Given the description of an element on the screen output the (x, y) to click on. 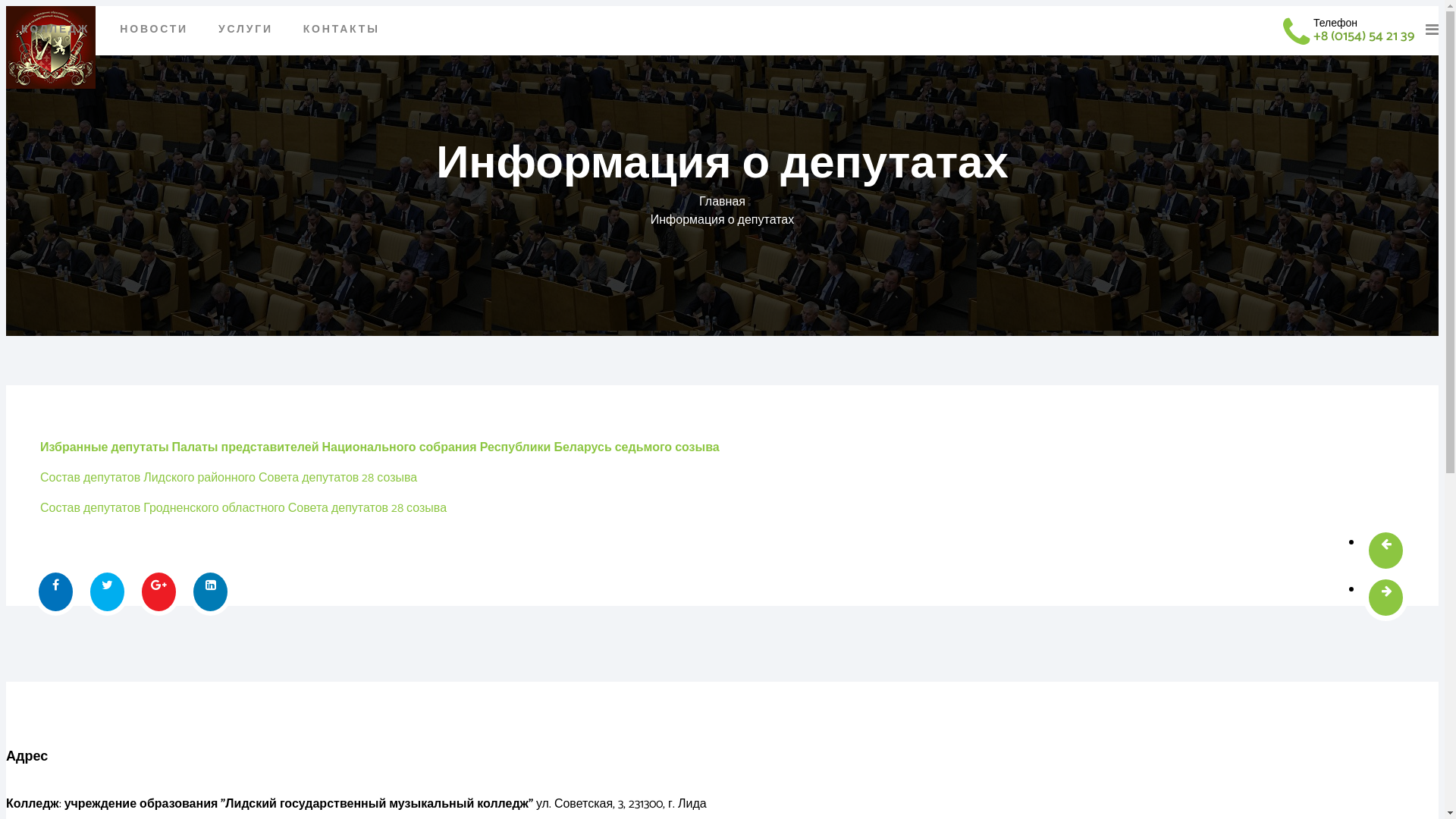
Share On Google Plus Element type: hover (158, 591)
Share On Twitter Element type: hover (109, 591)
Share On Linkedin Element type: hover (210, 591)
Share On Facebook Element type: hover (58, 591)
+8 (0154) 54 21 39 Element type: text (1363, 36)
